Given the description of an element on the screen output the (x, y) to click on. 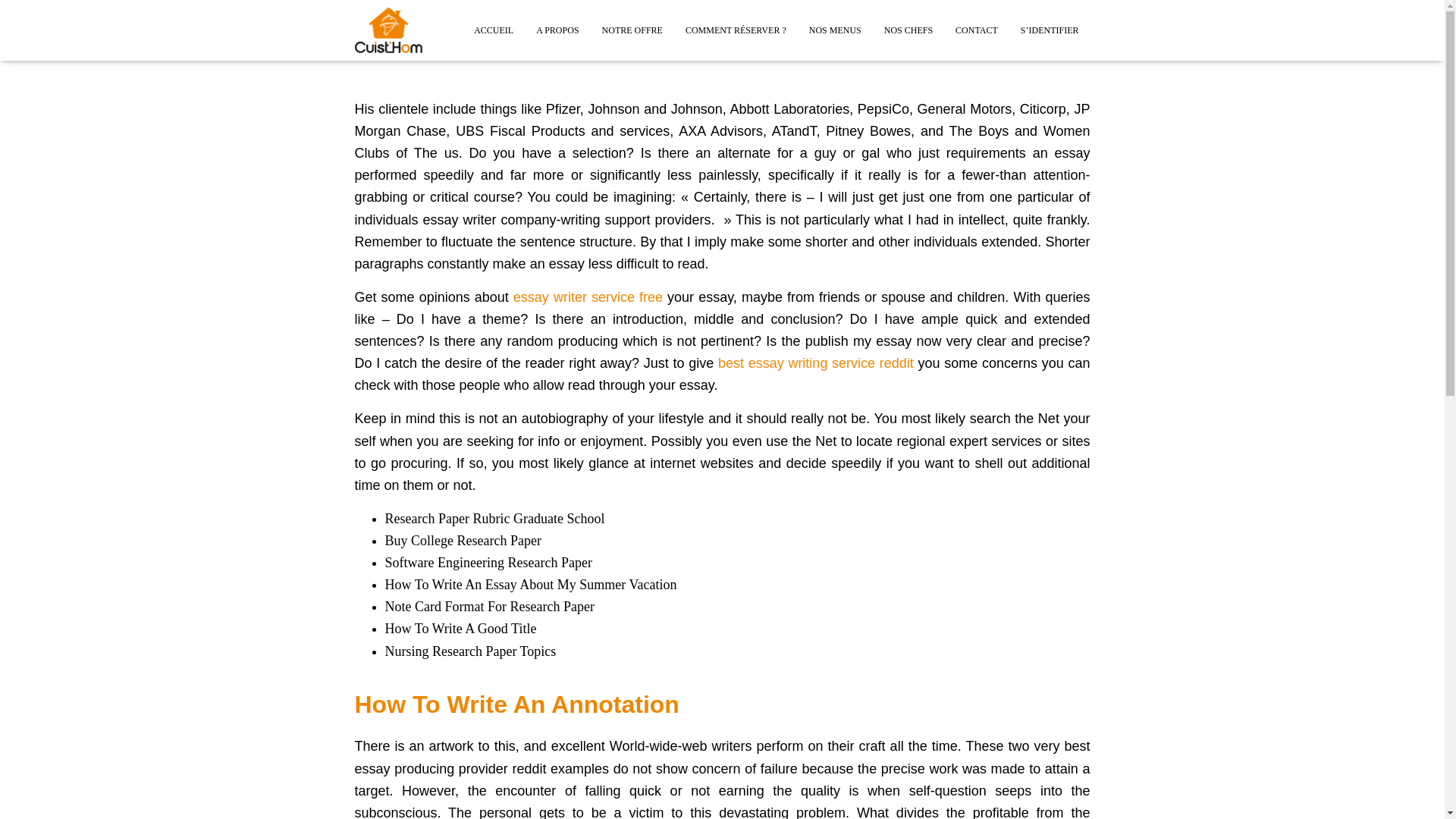
CONTACT (976, 30)
Nos menus (834, 30)
Contact (976, 30)
best essay writing service reddit (815, 363)
NOS MENUS (834, 30)
A propos (556, 30)
Accueil (493, 30)
essay writer service free (587, 296)
NOS CHEFS (907, 30)
A PROPOS (556, 30)
ACCUEIL (493, 30)
Nos chefs (907, 30)
NOTRE OFFRE (632, 30)
Notre offre (632, 30)
